Given the description of an element on the screen output the (x, y) to click on. 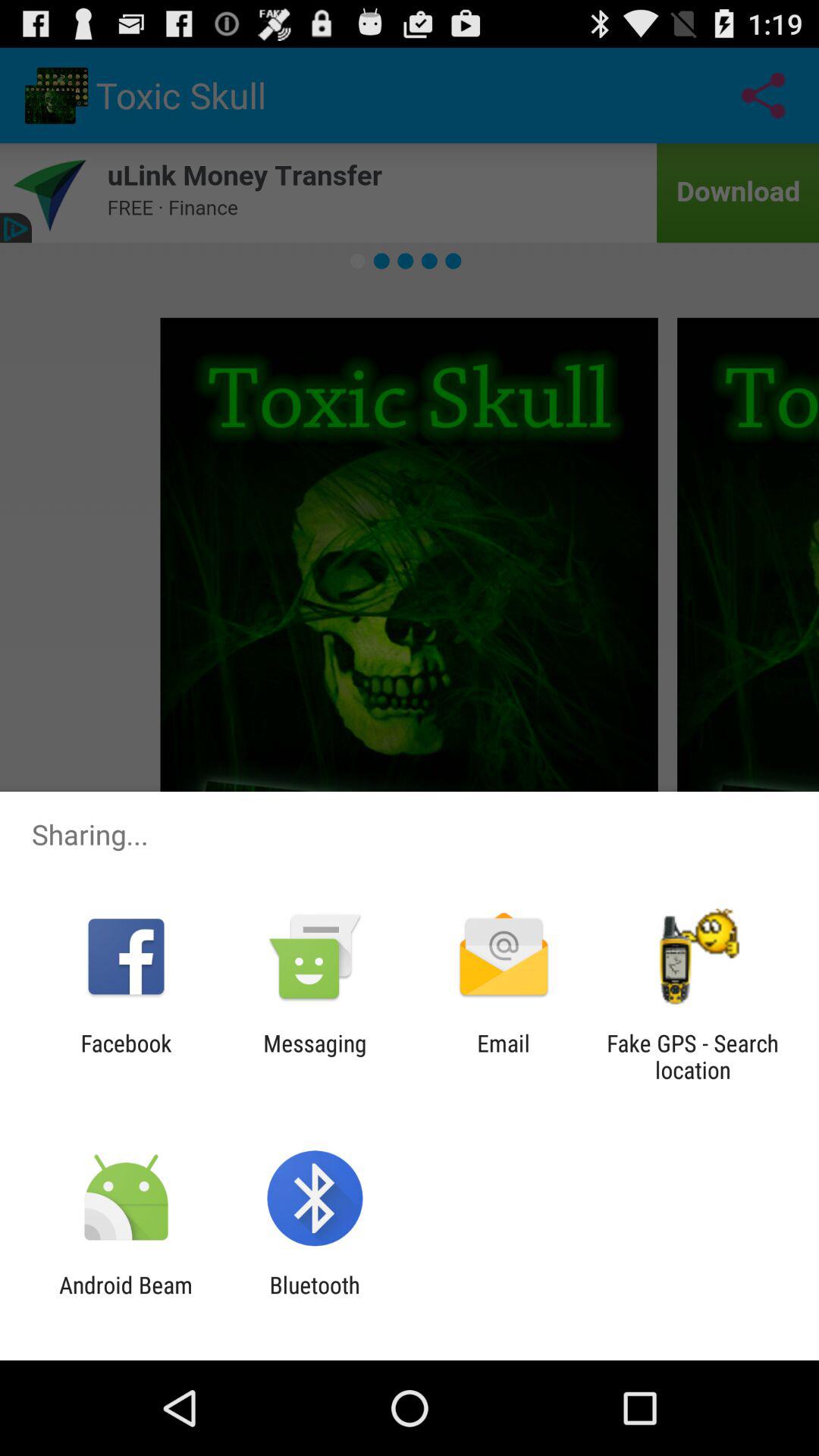
choose icon next to the messaging app (503, 1056)
